Given the description of an element on the screen output the (x, y) to click on. 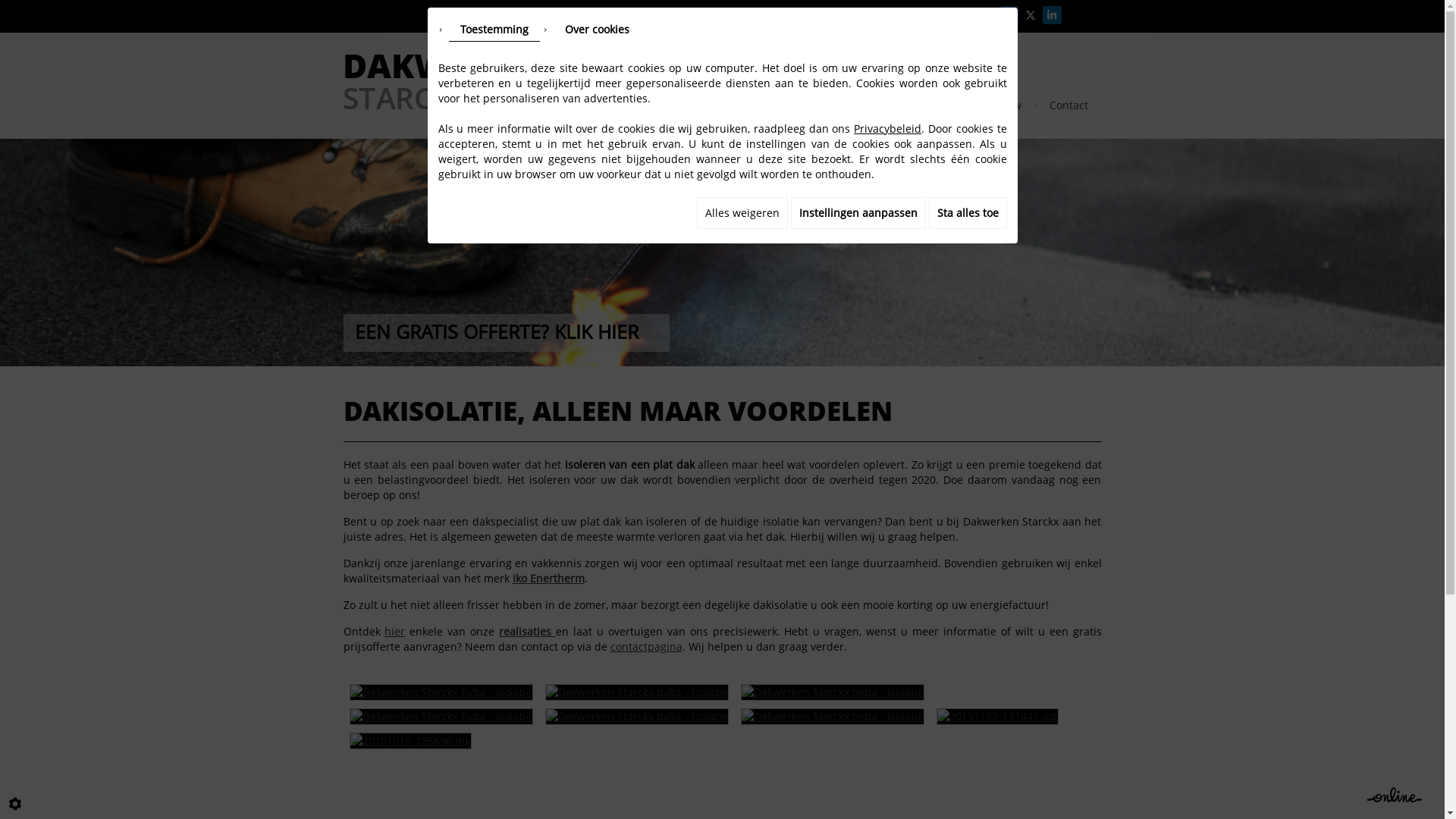
Cookie-instelling bewerken Element type: text (14, 803)
realisaties Element type: text (526, 631)
Dakwerken Starckx bvba - Isolatie  Element type: hover (831, 692)
Instellingen aanpassen Element type: text (857, 213)
Privacybeleid Element type: text (887, 128)
Over cookies Element type: text (596, 29)
Dakwerken Starckx bvba - Isolatie  Element type: hover (440, 692)
LinkedIn Element type: hover (1051, 15)
contactpagina Element type: text (645, 646)
20151016_135636.jpg  Element type: hover (409, 740)
Contact Element type: text (1068, 105)
Dakwerken Starckx bvba - Isolatie  Element type: hover (440, 716)
Home Element type: text (643, 105)
Dakwerken Starckx bvba - Isolatie  Element type: hover (636, 716)
20151102_111445.jpg  Element type: hover (996, 716)
Sta alles toe Element type: text (967, 213)
Dakwerken Starckx bvba - Isolatie  Element type: hover (636, 692)
hier Element type: text (394, 631)
Toestemming Element type: text (493, 29)
EEN GRATIS OFFERTE? KLIK HIER Element type: text (505, 332)
DAKWERKEN STARCKX BVBA - Turnhout Element type: hover (448, 80)
Dakwerken Starckx bvba - Isolatie  Element type: hover (831, 716)
Isolatie Element type: text (846, 105)
Facebook Element type: hover (1008, 15)
X Element type: hover (1030, 15)
Dakgoten Element type: text (775, 105)
Renovatie en nieuwbouw Element type: text (957, 105)
Roofing Element type: text (705, 105)
Iko Enertherm Element type: text (548, 578)
Alles weigeren Element type: text (741, 213)
